Given the description of an element on the screen output the (x, y) to click on. 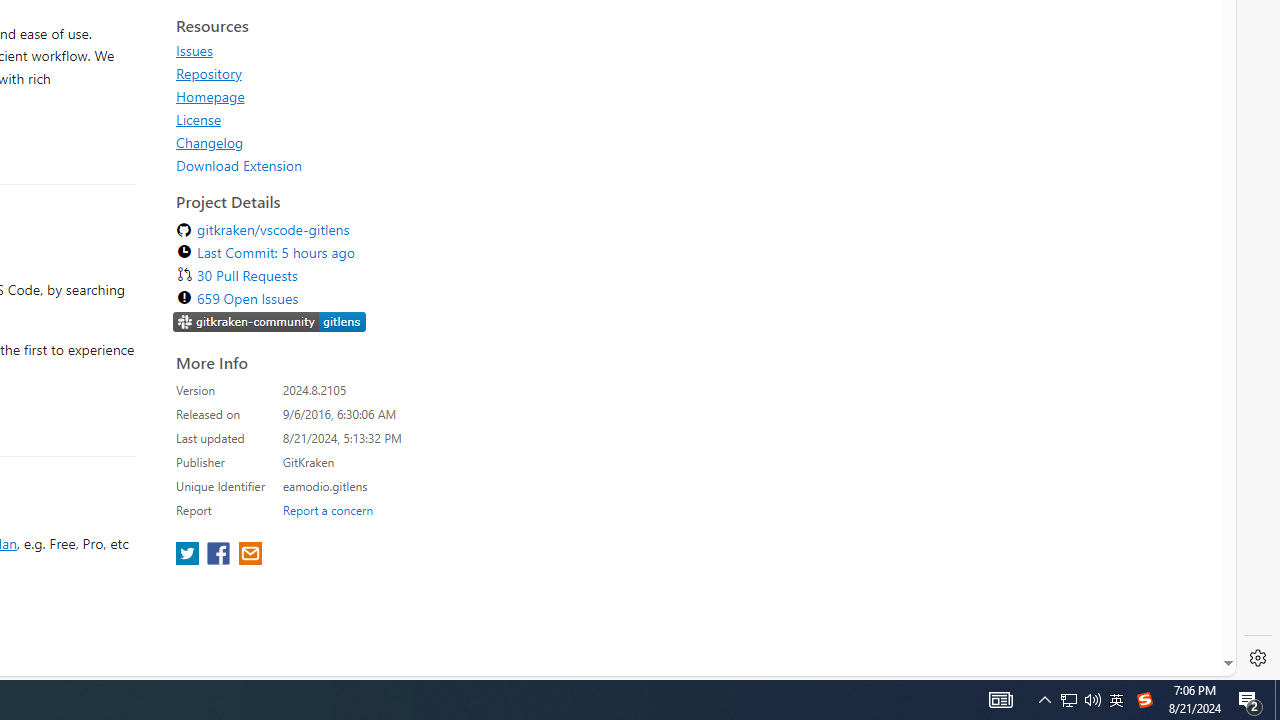
Download Extension (358, 165)
Changelog (210, 142)
Download Extension (239, 165)
Changelog (358, 142)
Issues (358, 50)
Repository (208, 73)
